Given the description of an element on the screen output the (x, y) to click on. 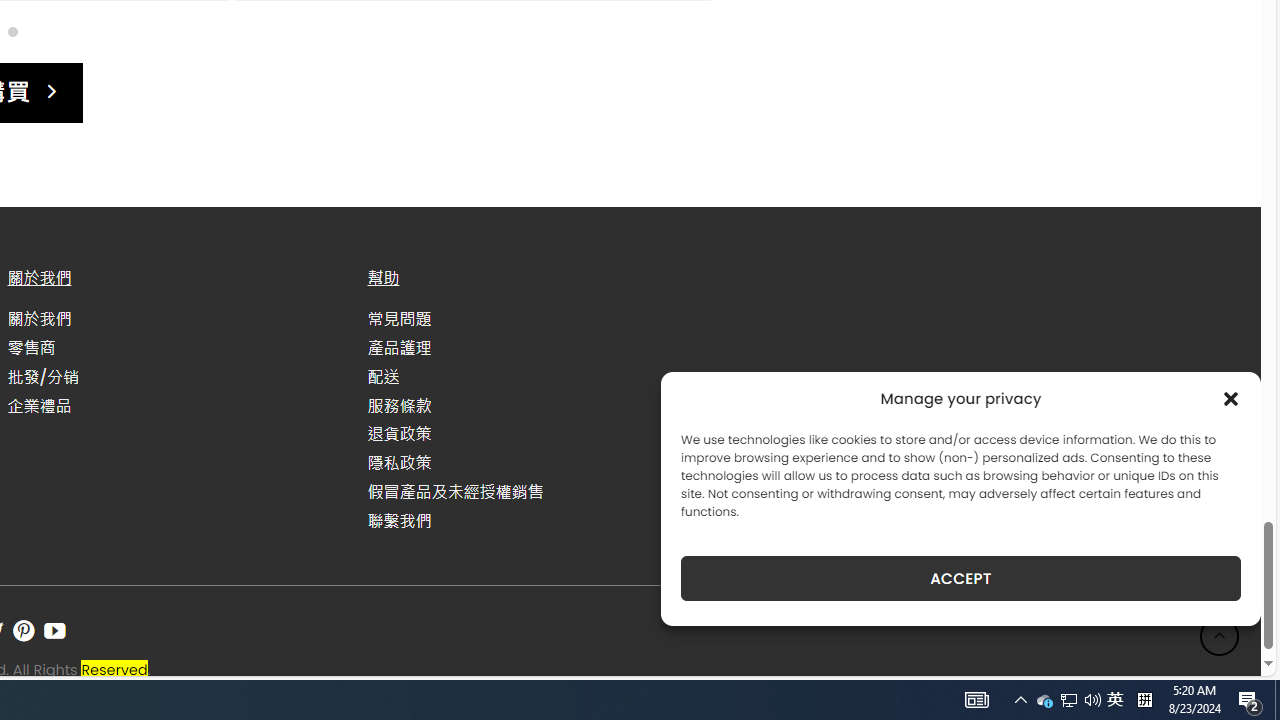
Follow on Pinterest (23, 631)
Follow on YouTube (54, 631)
ACCEPT (960, 578)
Go to top (1220, 636)
